Given the description of an element on the screen output the (x, y) to click on. 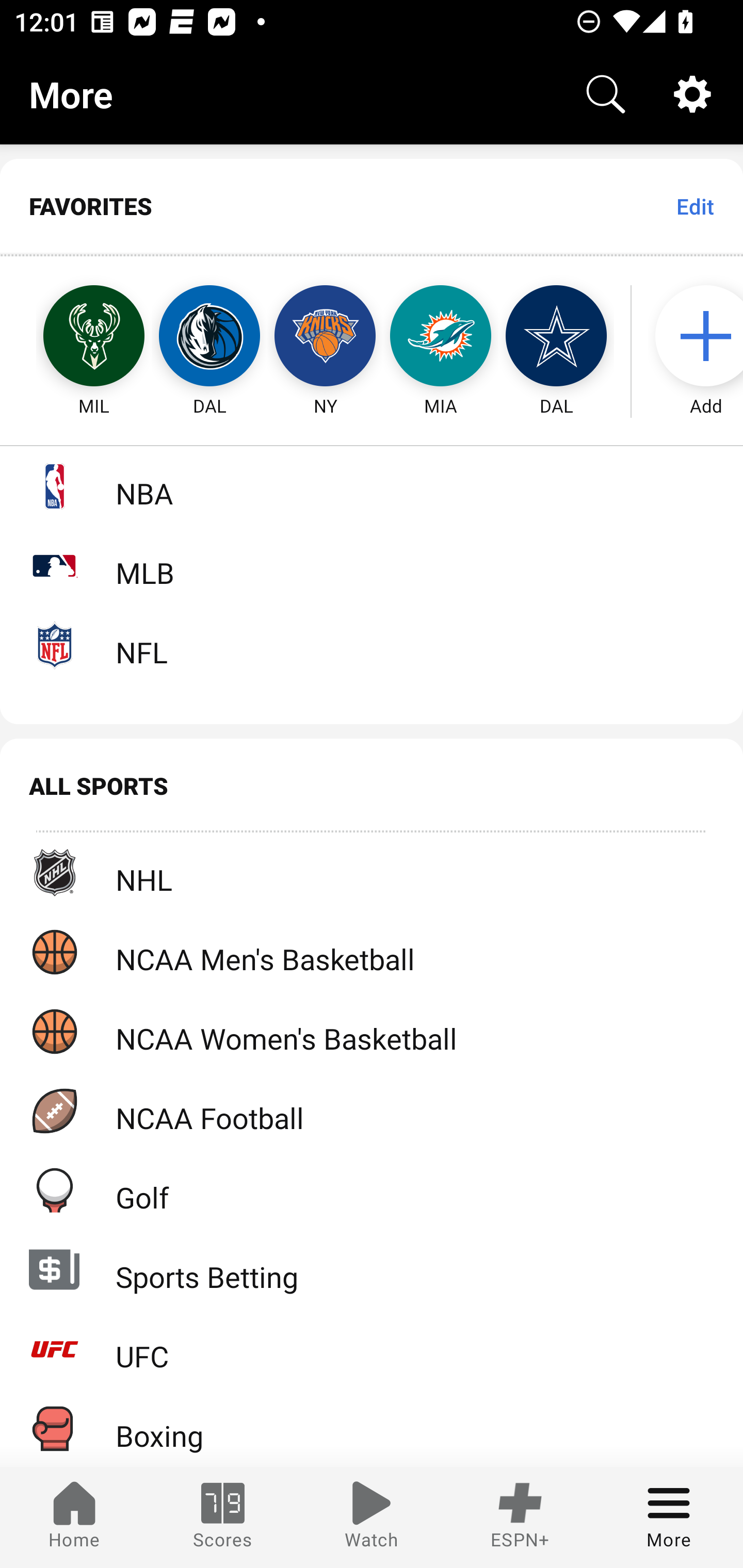
Search (605, 93)
Settings (692, 93)
Edit (695, 205)
MIL Milwaukee Bucks (75, 336)
DAL Dallas Mavericks (209, 336)
NY New York Knicks (324, 336)
MIA Miami Dolphins (440, 336)
DAL Dallas Cowboys (555, 336)
 Add (695, 336)
NBA (371, 485)
MLB (371, 565)
NFL (371, 645)
NHL (371, 872)
NCAA Men's Basketball (371, 951)
NCAA Women's Basketball (371, 1030)
NCAA Football (371, 1110)
Golf (371, 1189)
Sports Betting (371, 1269)
UFC (371, 1349)
Boxing (371, 1428)
Home (74, 1517)
Scores (222, 1517)
Watch (371, 1517)
ESPN+ (519, 1517)
